Given the description of an element on the screen output the (x, y) to click on. 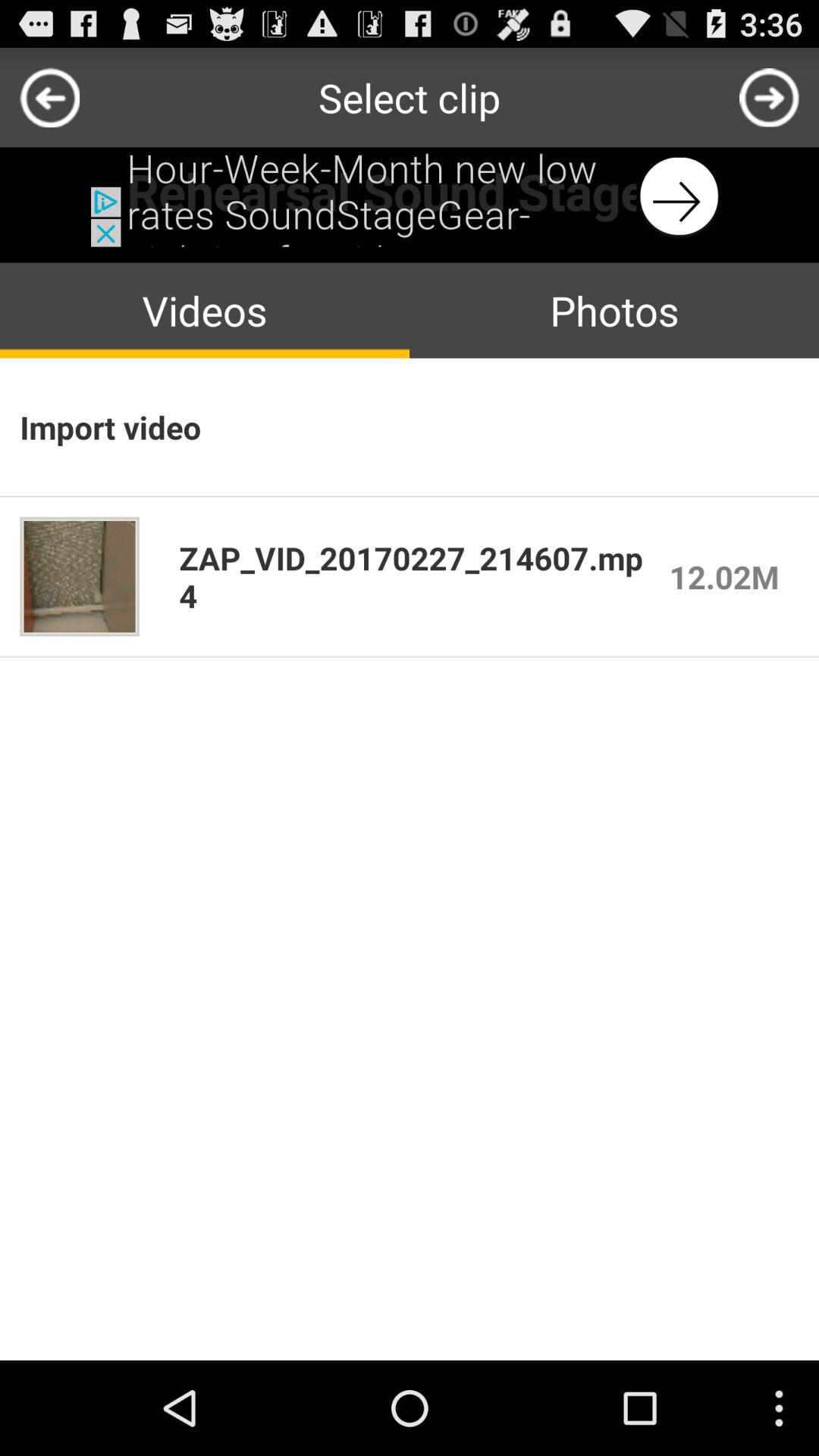
go to send box (769, 97)
